Given the description of an element on the screen output the (x, y) to click on. 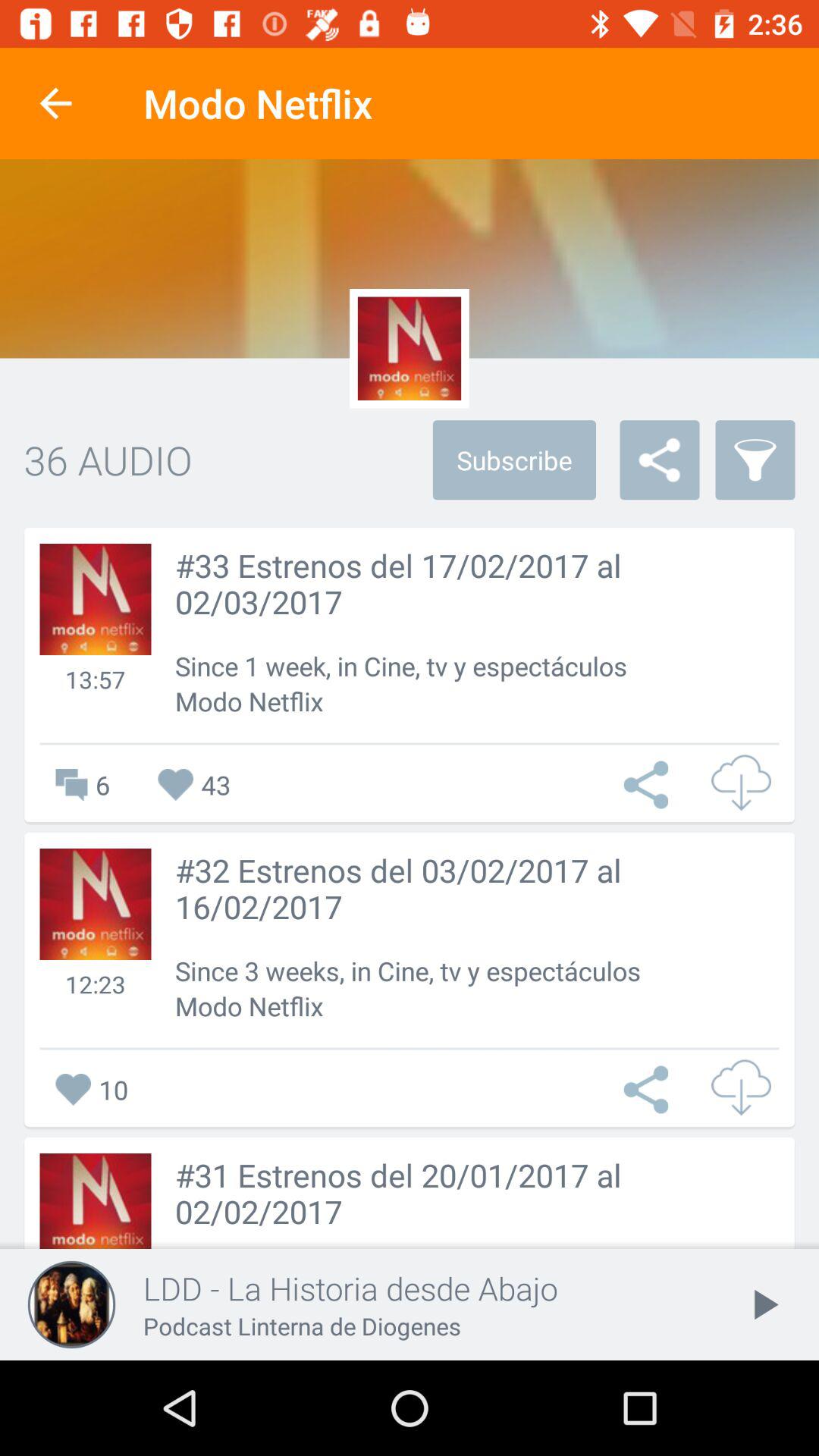
launch icon to the right of the 36 audio item (514, 459)
